Given the description of an element on the screen output the (x, y) to click on. 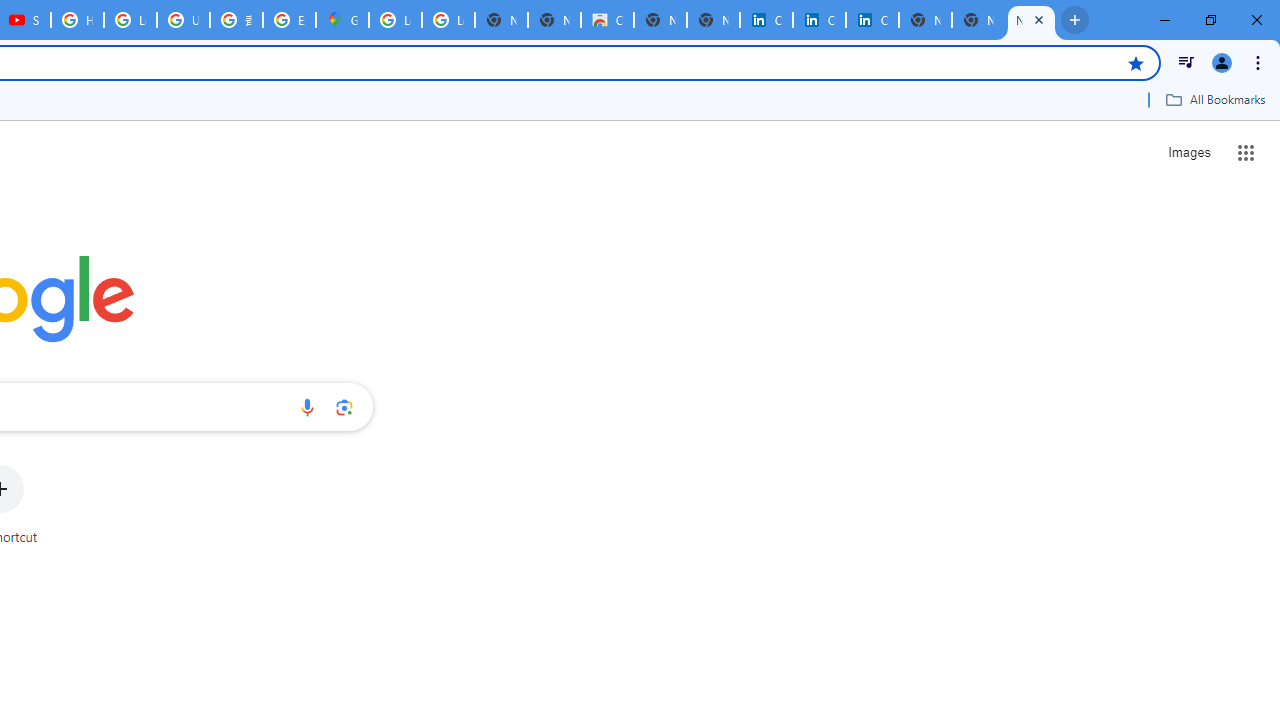
Chrome Web Store (607, 20)
Cookie Policy | LinkedIn (819, 20)
Copyright Policy (872, 20)
New Tab (978, 20)
